Given the description of an element on the screen output the (x, y) to click on. 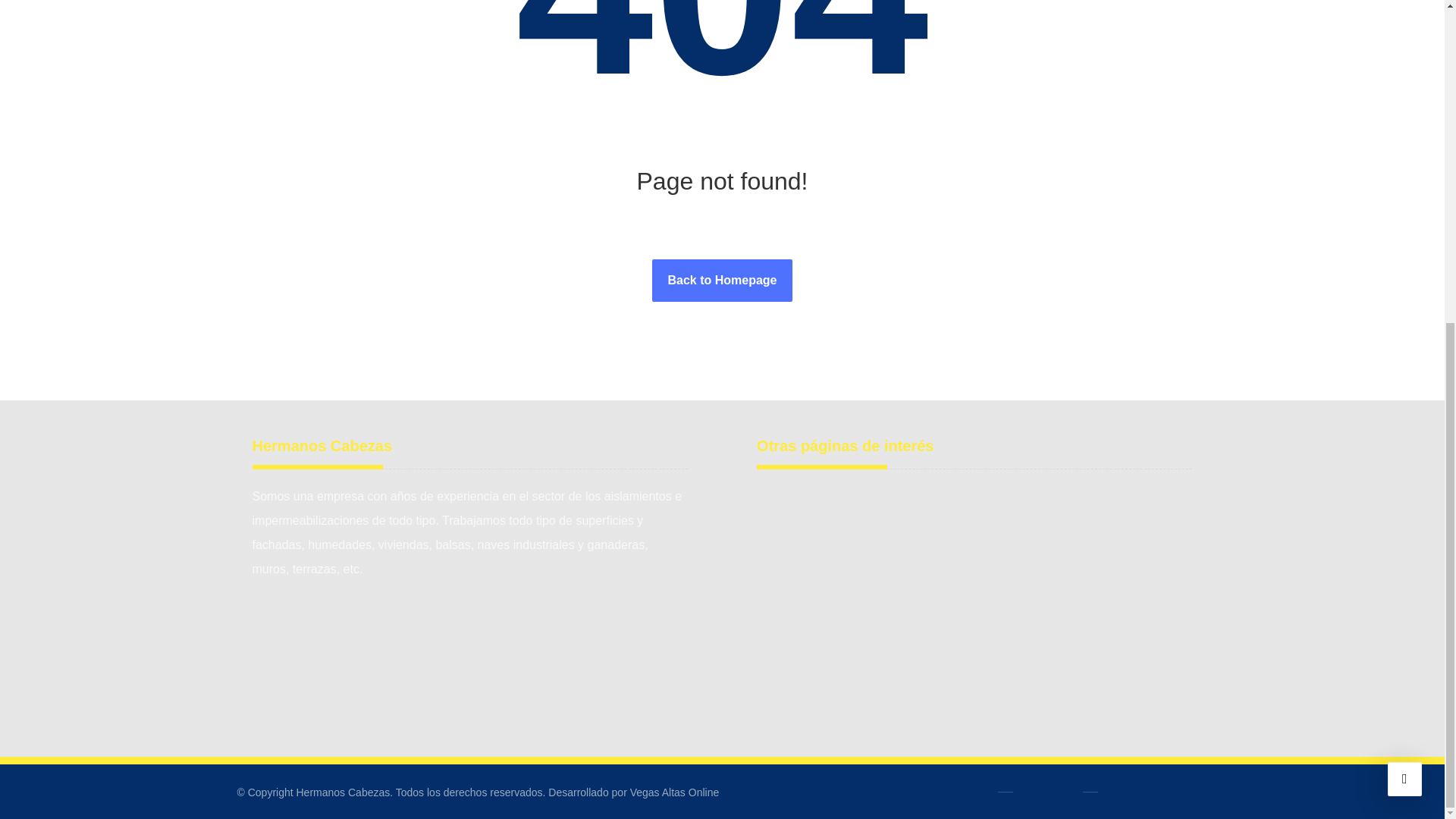
Back to Homepage (722, 280)
